Given the description of an element on the screen output the (x, y) to click on. 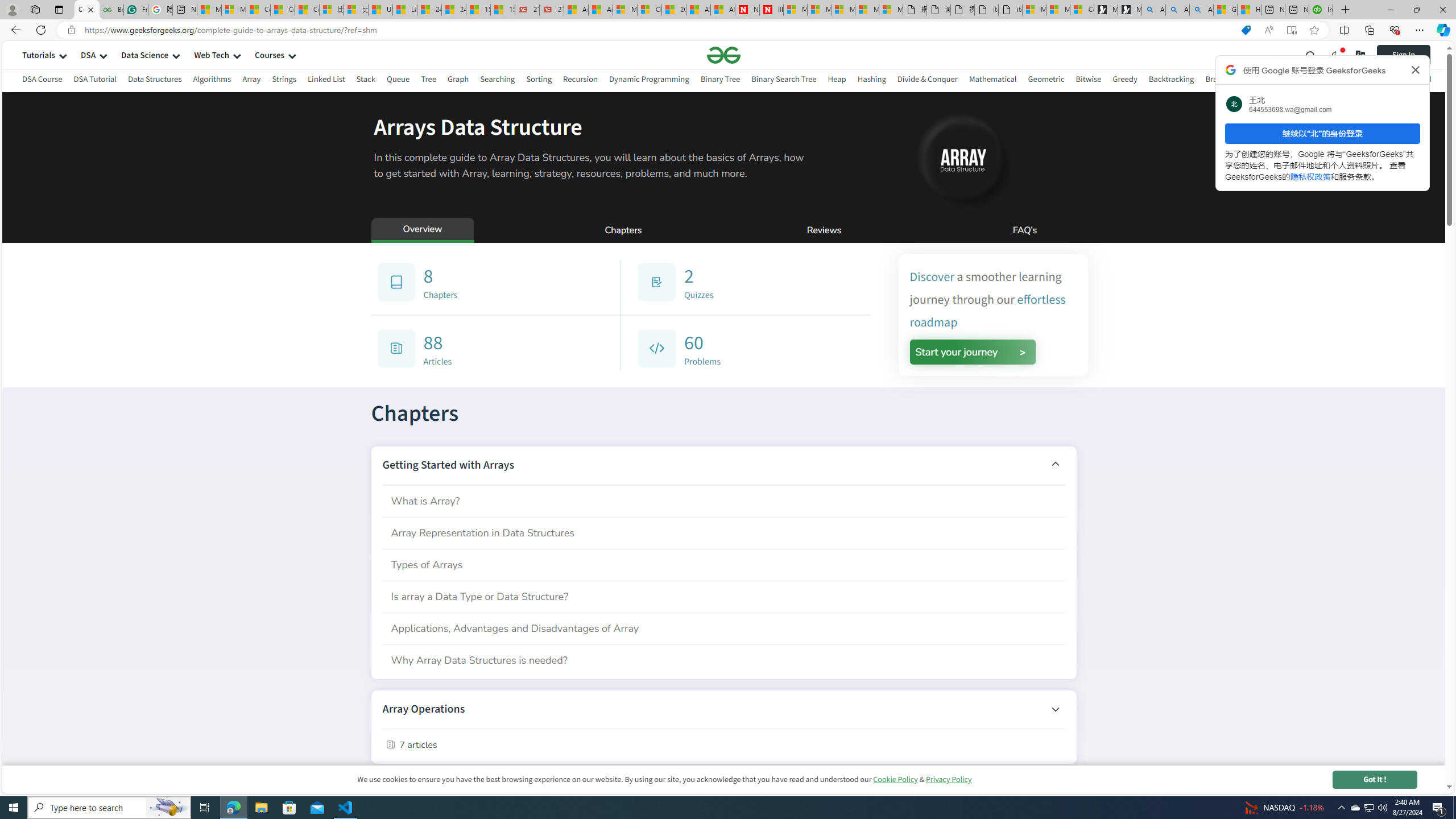
What is Array? (723, 500)
Greedy (1124, 80)
Consumer Health Data Privacy Policy (1082, 9)
AutomationID: gfg-nuj-heading-image (960, 157)
Randomized (1409, 79)
Heap (836, 80)
Backtracking (1170, 79)
Stack (365, 79)
Data Science (144, 55)
Pattern Searching (1344, 80)
Alabama high school quarterback dies - Search (1153, 9)
Alabama high school quarterback dies - Search Videos (1201, 9)
